Given the description of an element on the screen output the (x, y) to click on. 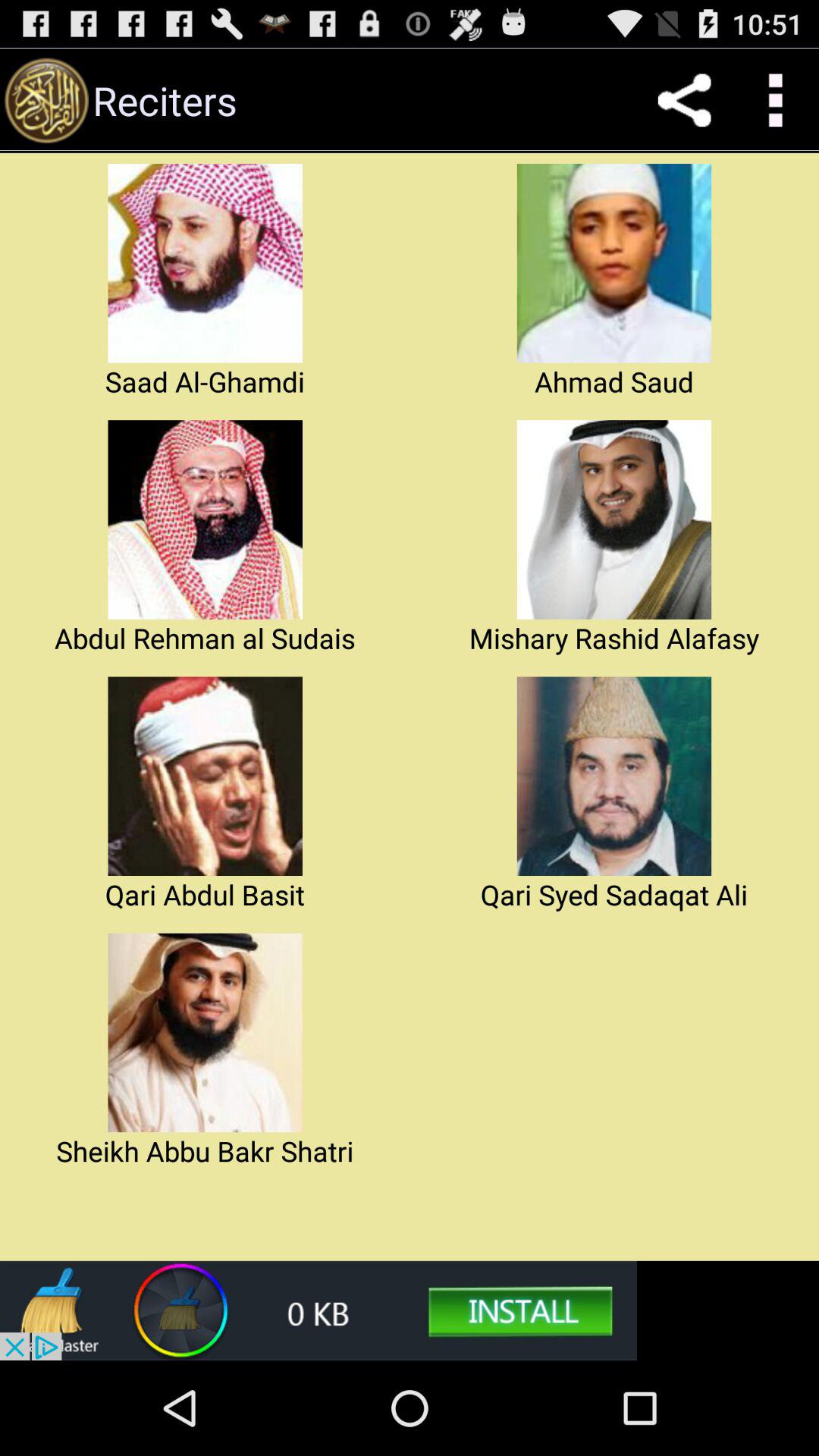
share the article (684, 100)
